Given the description of an element on the screen output the (x, y) to click on. 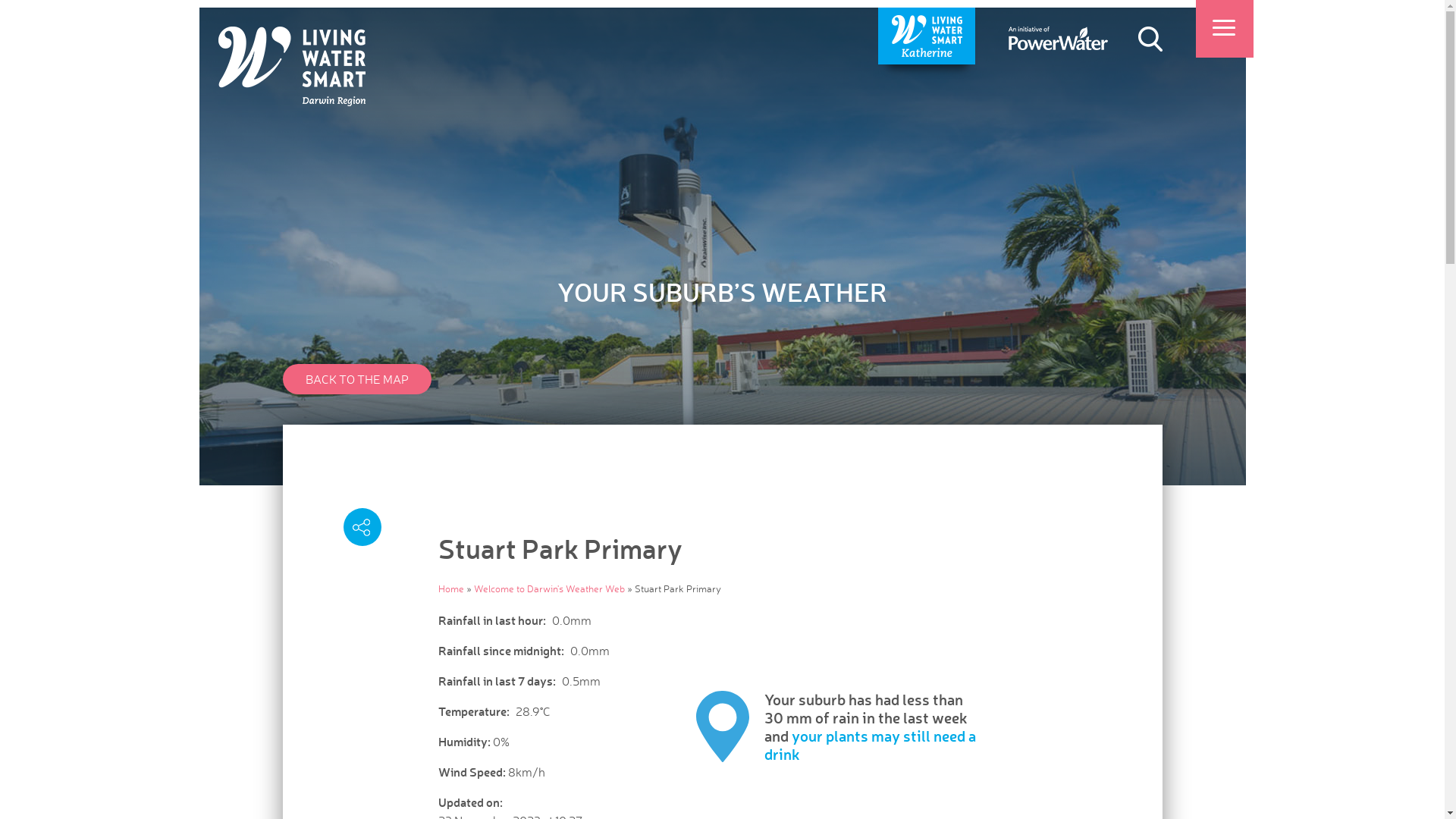
Living Water Smart Element type: text (291, 66)
Share Element type: text (361, 527)
BACK TO THE MAP Element type: text (356, 379)
Welcome to Darwin's Weather Web Element type: text (548, 588)
Skip to main content Element type: text (0, 7)
Home Element type: text (451, 588)
Search Element type: text (1149, 38)
